Given the description of an element on the screen output the (x, y) to click on. 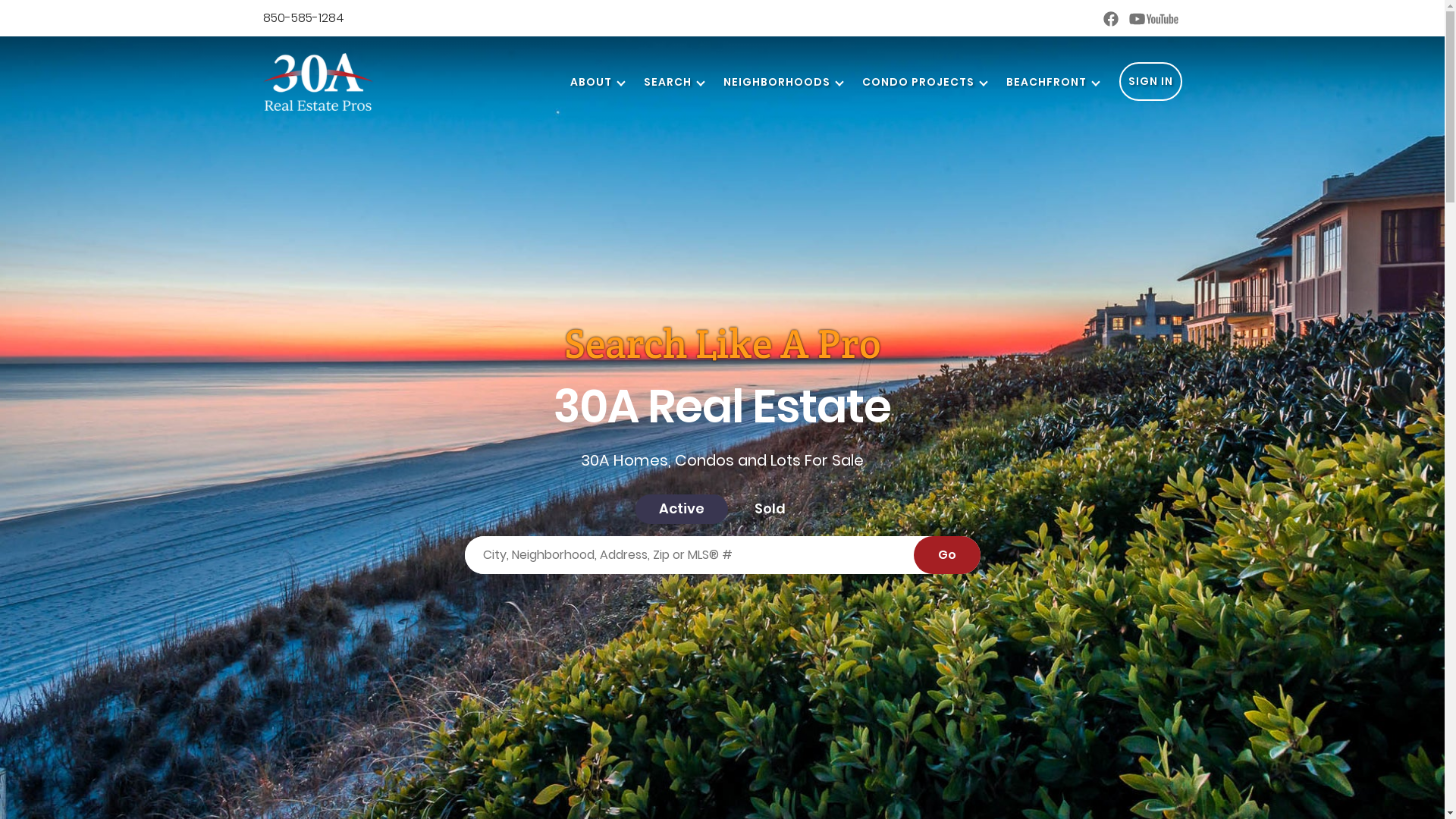
Go Element type: text (946, 555)
850-585-1284 Element type: text (302, 17)
NEIGHBORHOODS Element type: text (775, 81)
SIGN IN Element type: text (1150, 81)
ABOUT Element type: text (590, 81)
CONDO PROJECTS Element type: text (917, 81)
Site Logo Element type: hover (317, 81)
SEARCH Element type: text (667, 81)
BEACHFRONT Element type: text (1046, 81)
Sold Element type: text (770, 509)
Active Element type: text (681, 509)
